Given the description of an element on the screen output the (x, y) to click on. 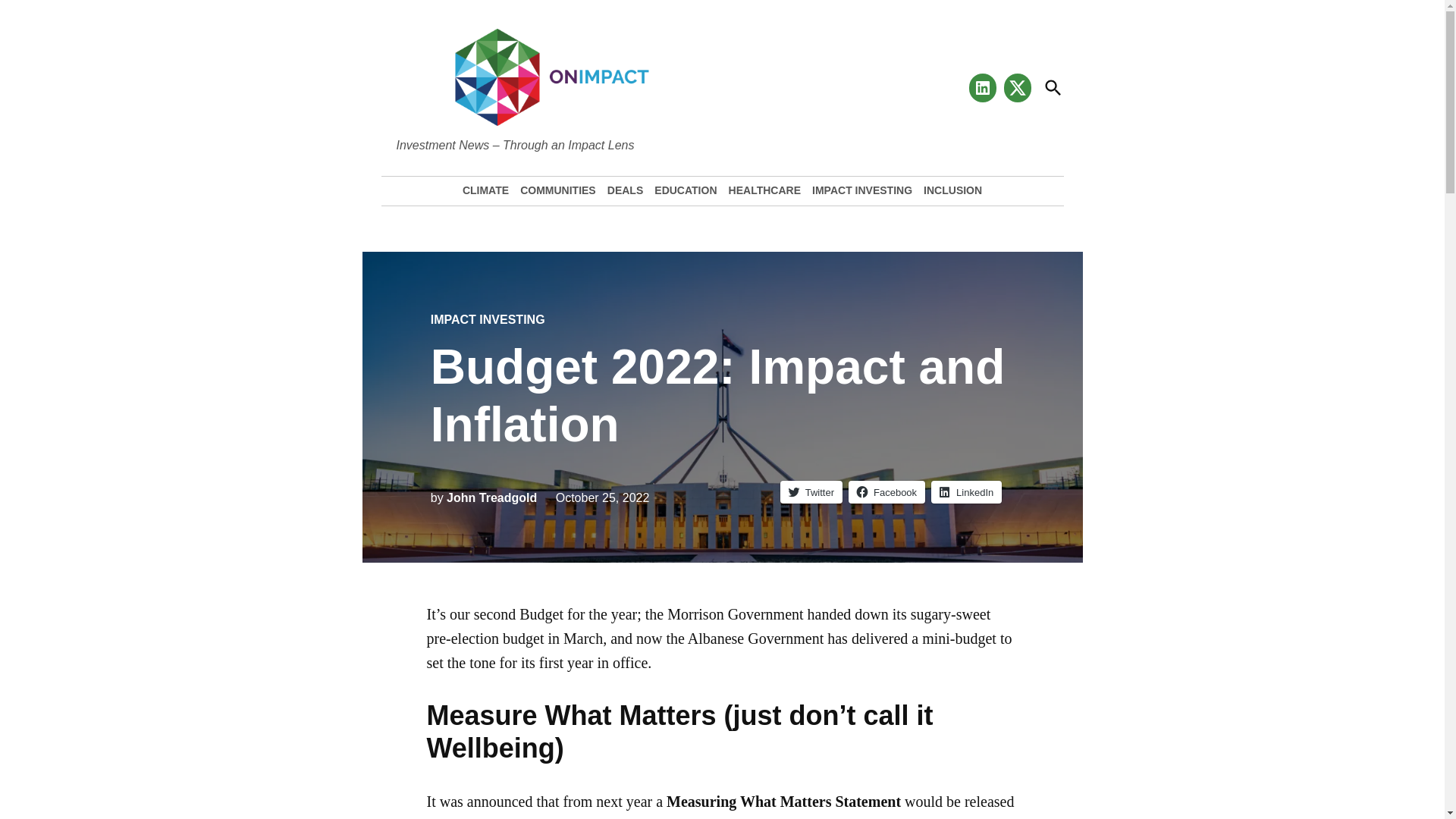
Facebook (886, 491)
Twitter (811, 491)
IMPACT INVESTING (487, 319)
EDUCATION (685, 189)
Click to share on Twitter (811, 491)
IMPACT INVESTING (861, 189)
Click to share on Facebook (886, 491)
OnImpact (551, 144)
DEALS (624, 189)
LINKEDIN (982, 82)
COMMUNITIES (557, 189)
TWITTER (1017, 82)
Click to share on LinkedIn (966, 491)
HEALTHCARE (764, 189)
John Treadgold (491, 497)
